Given the description of an element on the screen output the (x, y) to click on. 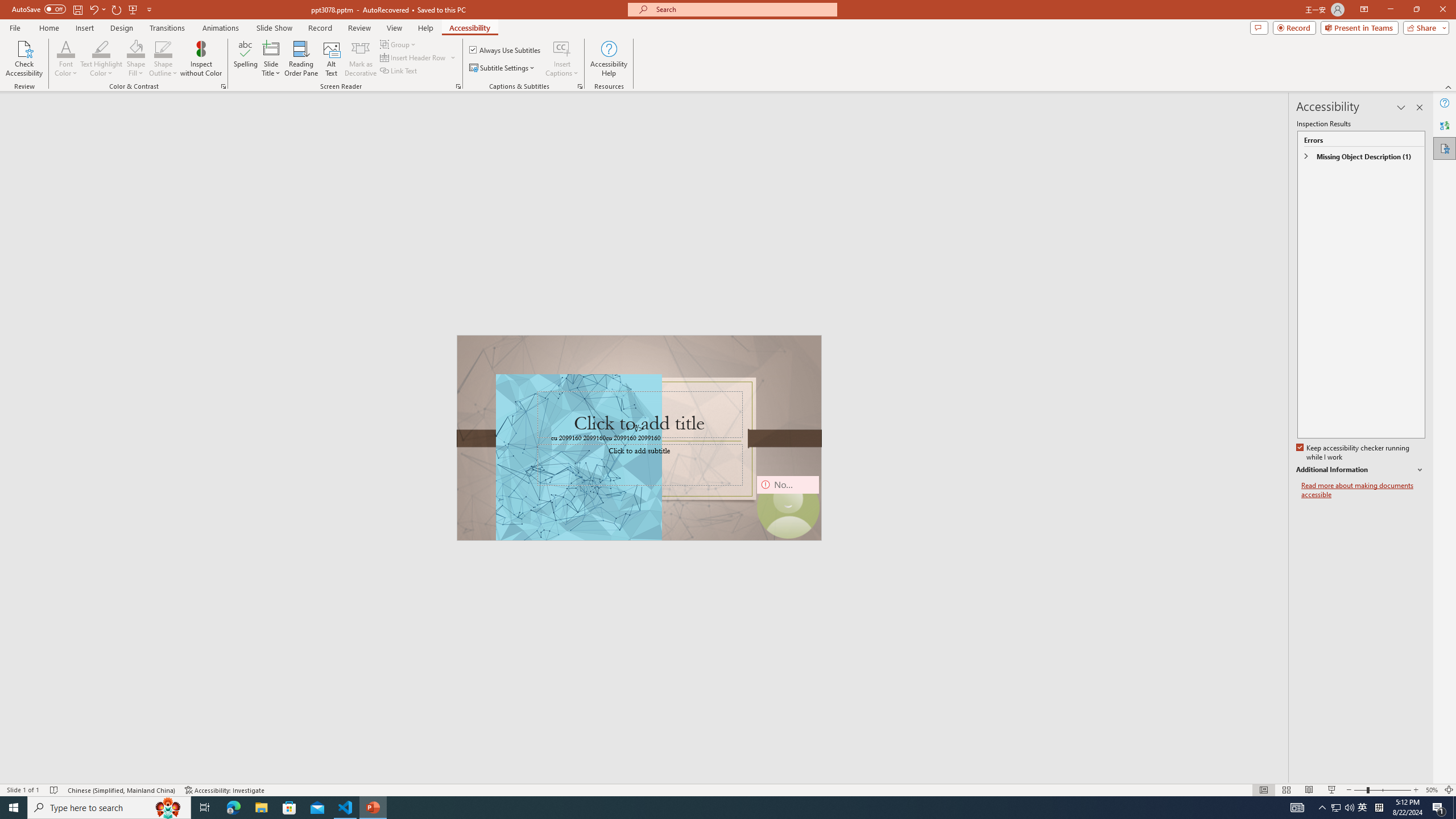
Translator (1444, 125)
Spelling... (245, 58)
Insert Captions (561, 58)
